Given the description of an element on the screen output the (x, y) to click on. 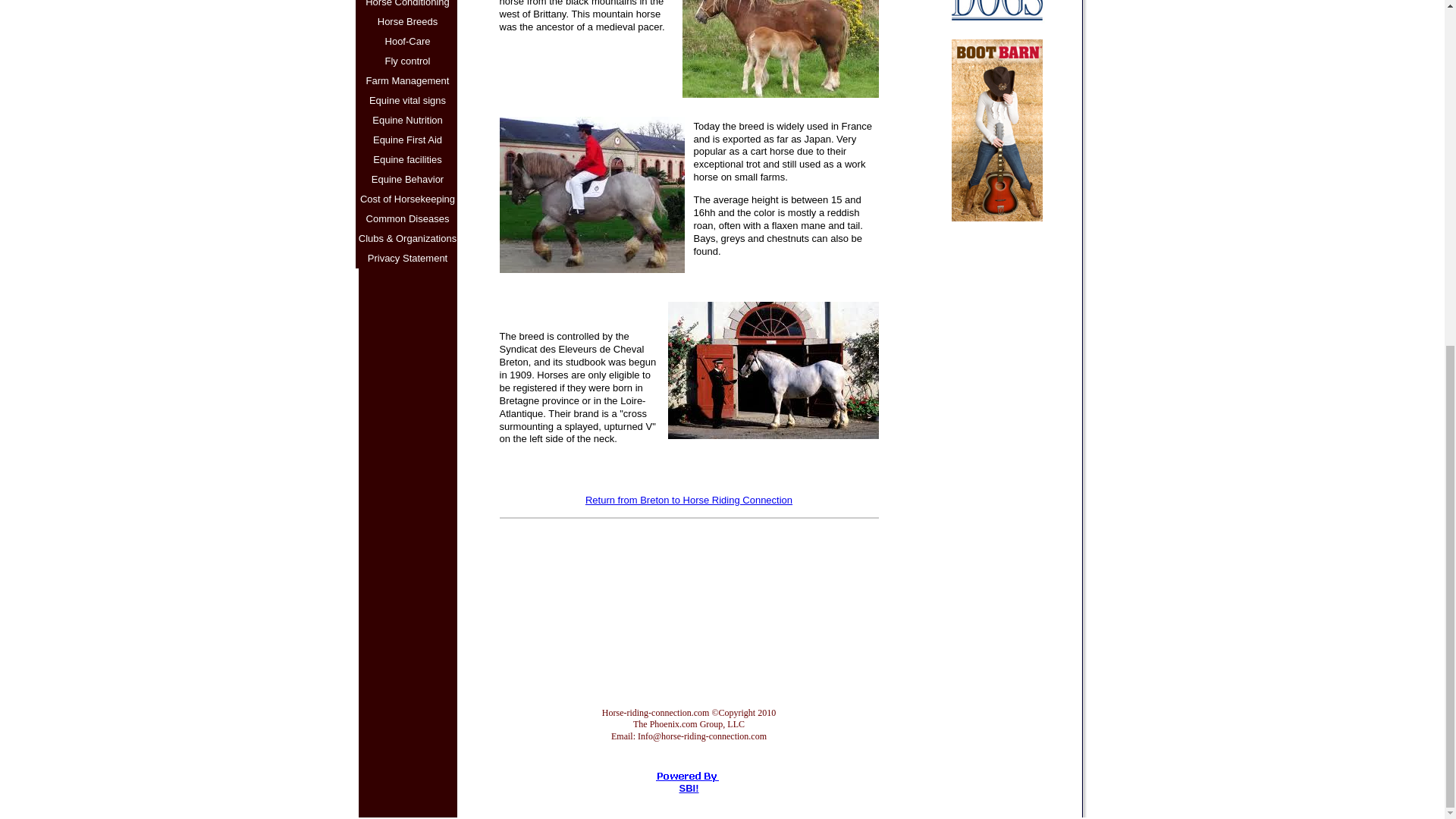
Return from Breton to Horse Riding Connection (688, 500)
Equine First Aid (407, 139)
Hoof-Care (407, 41)
SBI! (688, 787)
Horse Breeds (407, 21)
Equine facilities (407, 159)
Return from Breton to Horse Riding Connection (688, 500)
Equine vital signs (407, 100)
Cost of Horsekeeping (407, 199)
Farm Management (407, 80)
Equine Behavior (407, 179)
Fly control (407, 61)
Equine Nutrition (407, 120)
Privacy Statement (407, 258)
Horse Conditioning (407, 6)
